Given the description of an element on the screen output the (x, y) to click on. 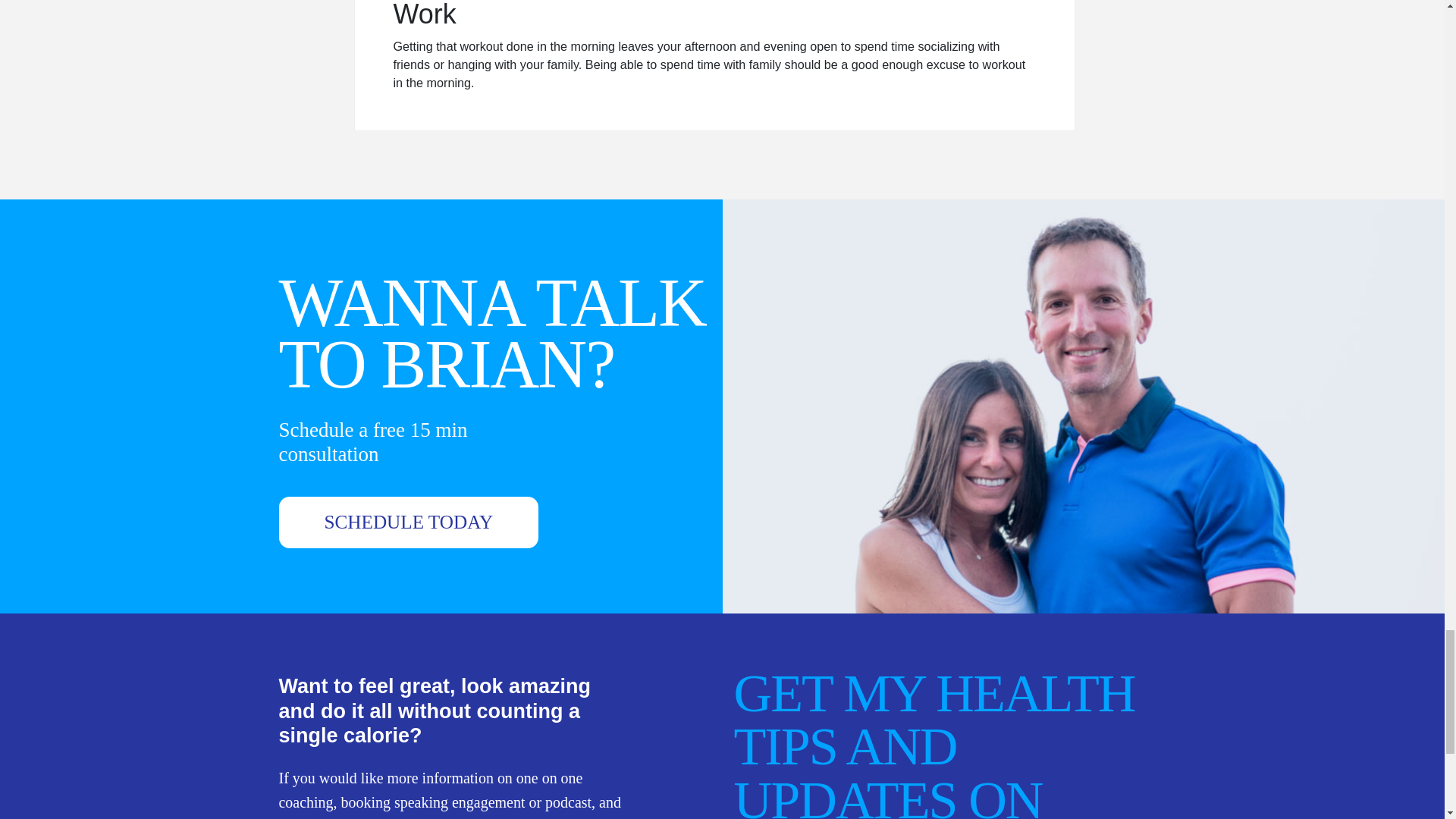
SCHEDULE TODAY (408, 521)
